Given the description of an element on the screen output the (x, y) to click on. 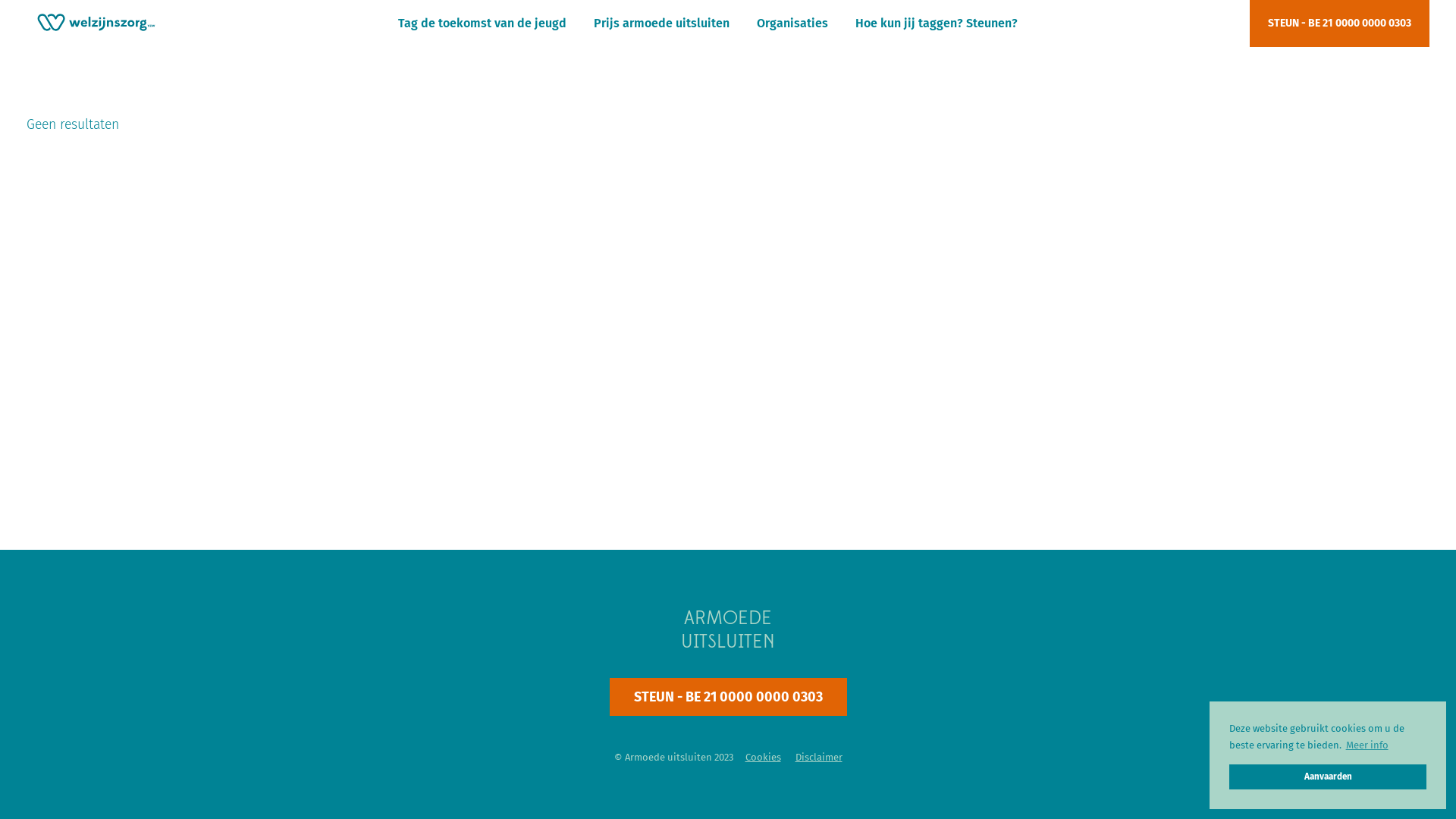
Aanvaarden Element type: text (1327, 776)
STEUN - BE 21 0000 0000 0303 Element type: text (1339, 23)
Cookies Element type: text (762, 756)
Hoe kun jij taggen? Steunen? Element type: text (936, 23)
Meer info Element type: text (1366, 744)
Organisaties Element type: text (792, 23)
Tag de toekomst van de jeugd Element type: text (482, 23)
Prijs armoede uitsluiten Element type: text (661, 23)
STEUN - BE 21 0000 0000 0303 Element type: text (728, 696)
Disclaimer Element type: text (817, 756)
